Given the description of an element on the screen output the (x, y) to click on. 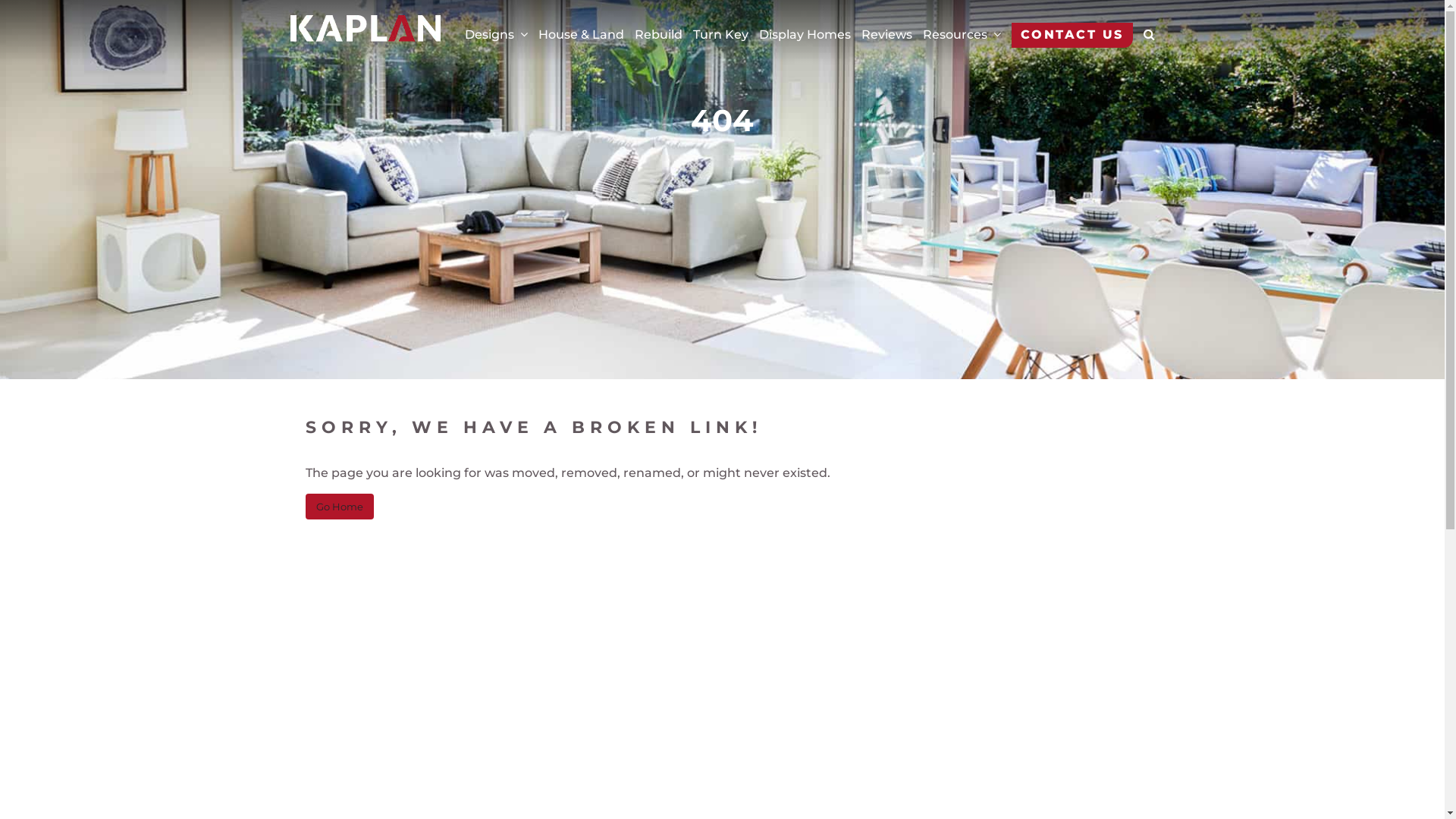
Display Homes Element type: text (804, 34)
House & Land Element type: text (581, 34)
Go Home Element type: text (338, 506)
CONTACT US Element type: text (1071, 34)
Rebuild Element type: text (657, 34)
Reviews Element type: text (886, 34)
Search Element type: text (1119, 37)
Resources   Element type: text (961, 34)
Designs   Element type: text (495, 34)
Turn Key Element type: text (720, 34)
